Given the description of an element on the screen output the (x, y) to click on. 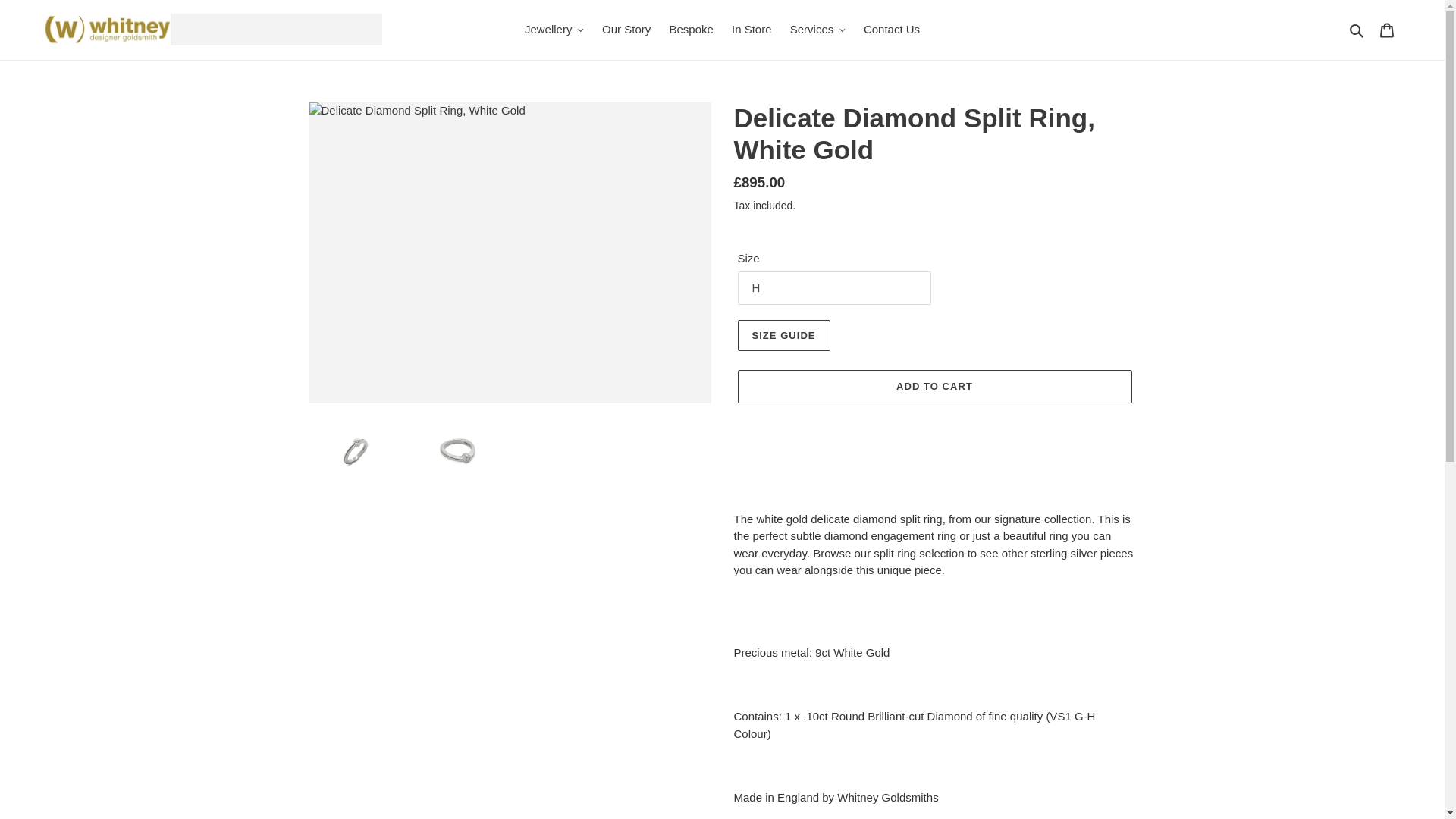
In Store (750, 29)
Jewellery (553, 29)
Bespoke (690, 29)
Our Story (626, 29)
Services (818, 29)
